Given the description of an element on the screen output the (x, y) to click on. 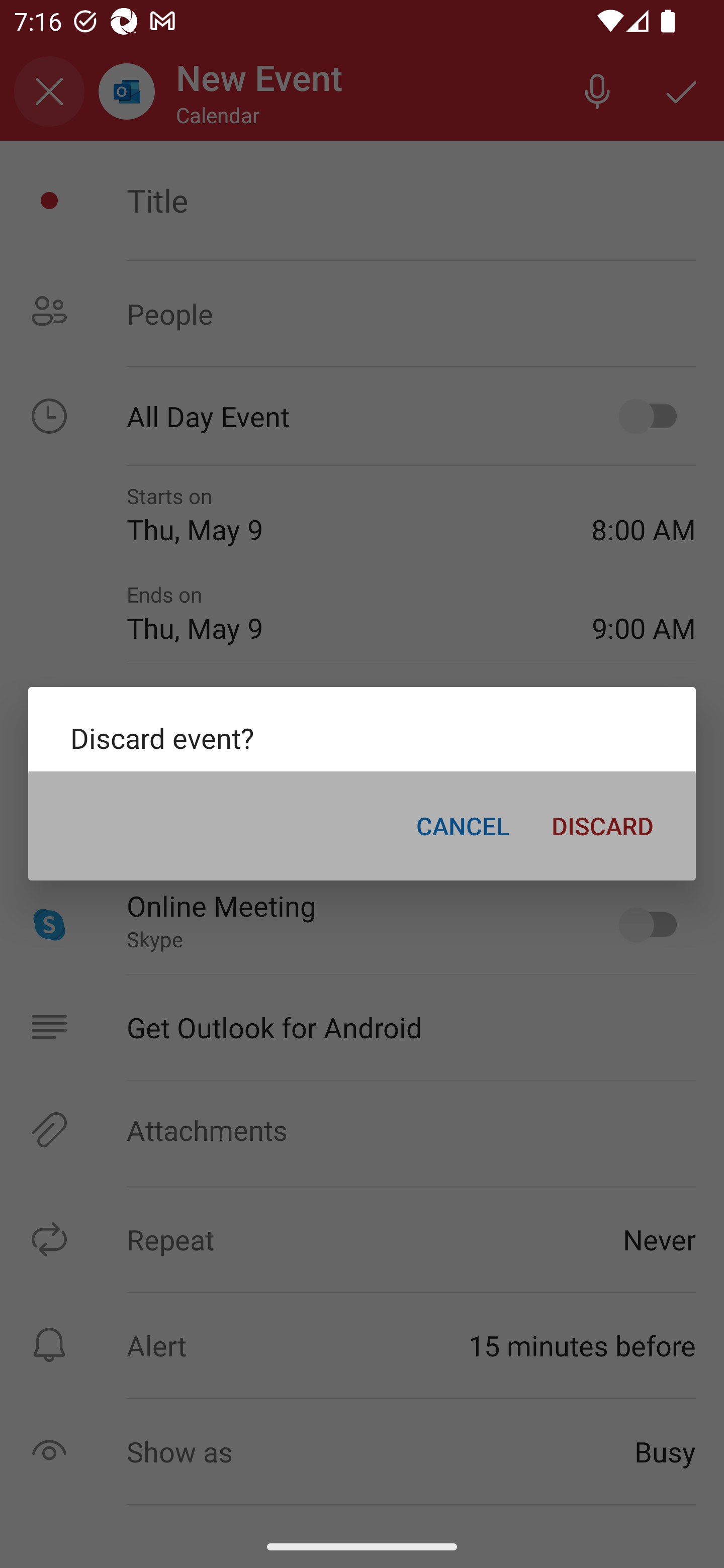
CANCEL (462, 825)
DISCARD (602, 825)
